Given the description of an element on the screen output the (x, y) to click on. 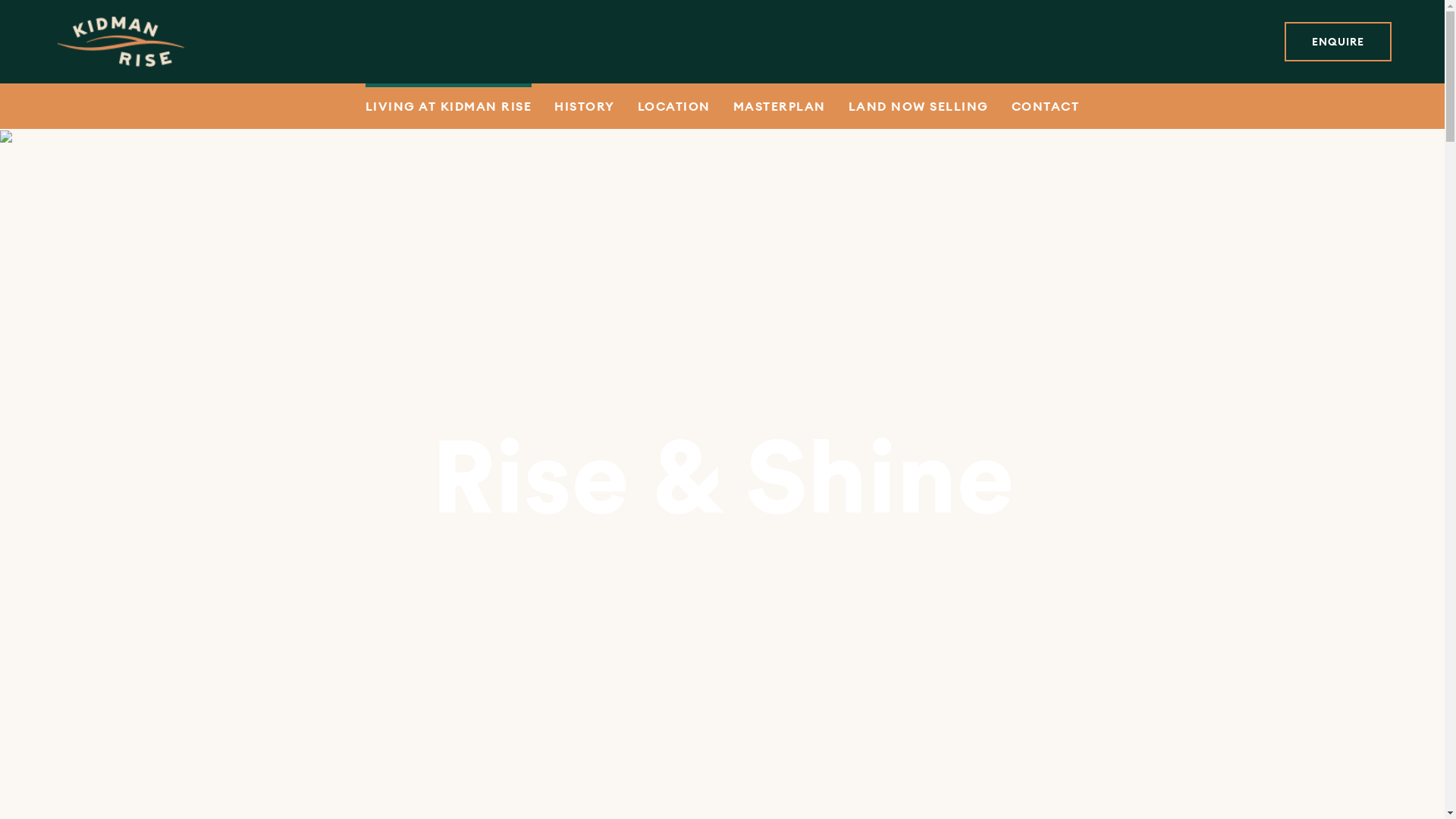
LIVING AT KIDMAN RISE Element type: text (448, 105)
HISTORY Element type: text (584, 105)
ENQUIRE Element type: text (1337, 41)
LAND NOW SELLING Element type: text (918, 105)
MASTERPLAN Element type: text (779, 105)
LOCATION Element type: text (673, 105)
CONTACT Element type: text (1045, 105)
